Given the description of an element on the screen output the (x, y) to click on. 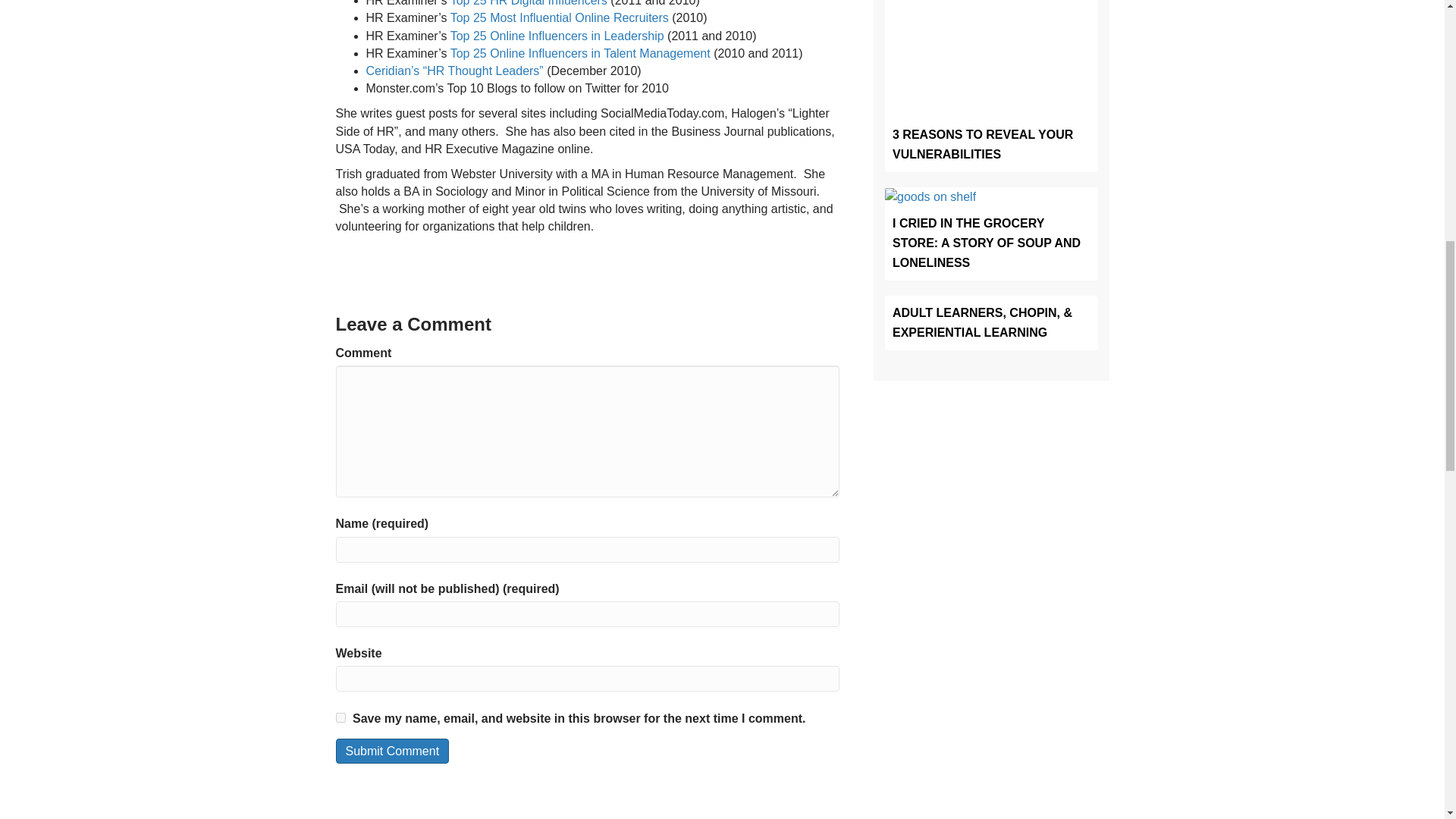
yes (339, 717)
Submit Comment (391, 750)
I Cried in the Grocery Store: A Story of Soup and Loneliness (930, 195)
3 Reasons To Reveal Your Vulnerabilities (982, 143)
3 Reasons To Reveal Your Vulnerabilities (991, 36)
I Cried in the Grocery Store: A Story of Soup and Loneliness (986, 243)
